Given the description of an element on the screen output the (x, y) to click on. 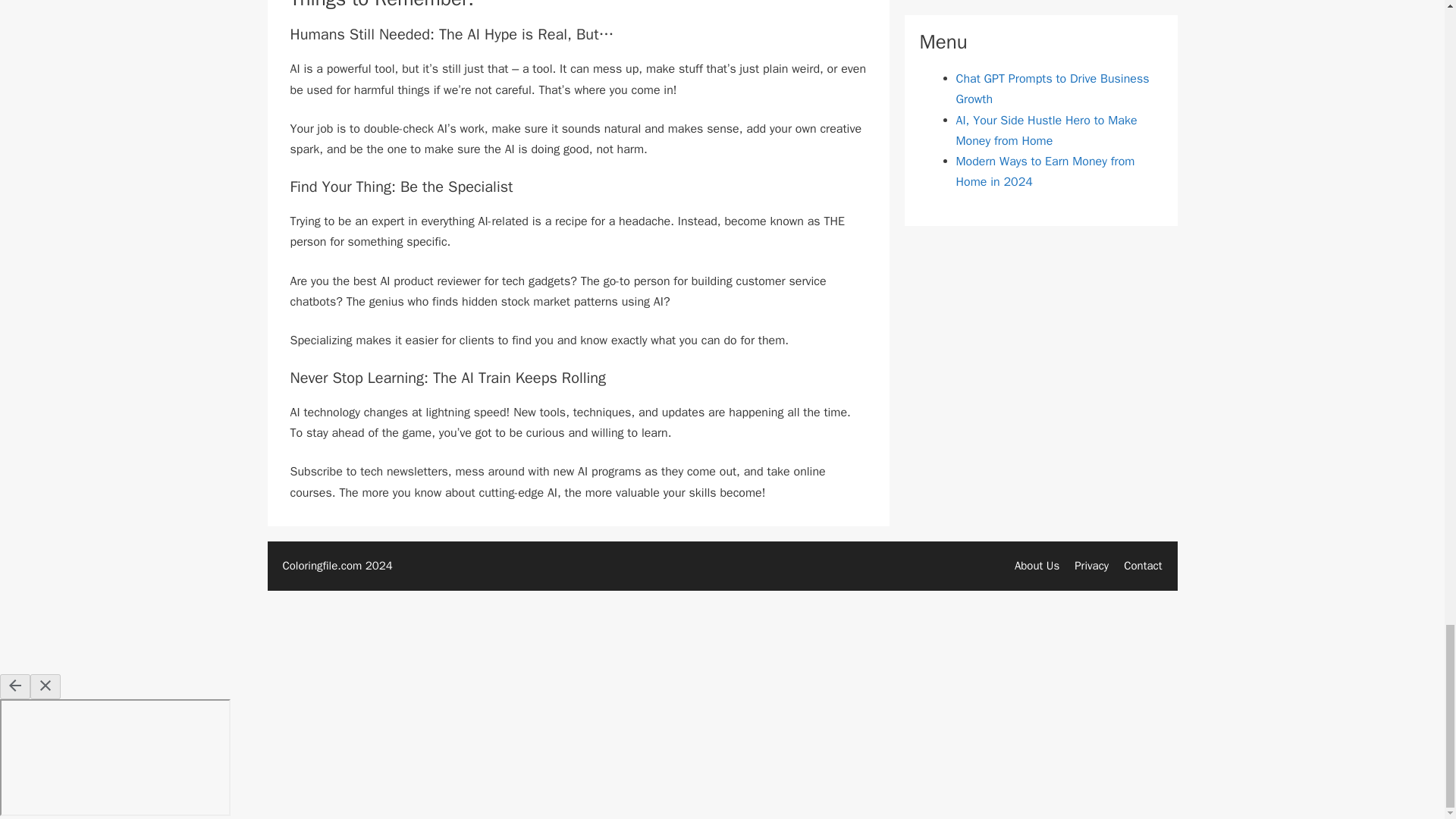
About Us (1036, 565)
Contact (1142, 565)
Privacy (1091, 565)
